Given the description of an element on the screen output the (x, y) to click on. 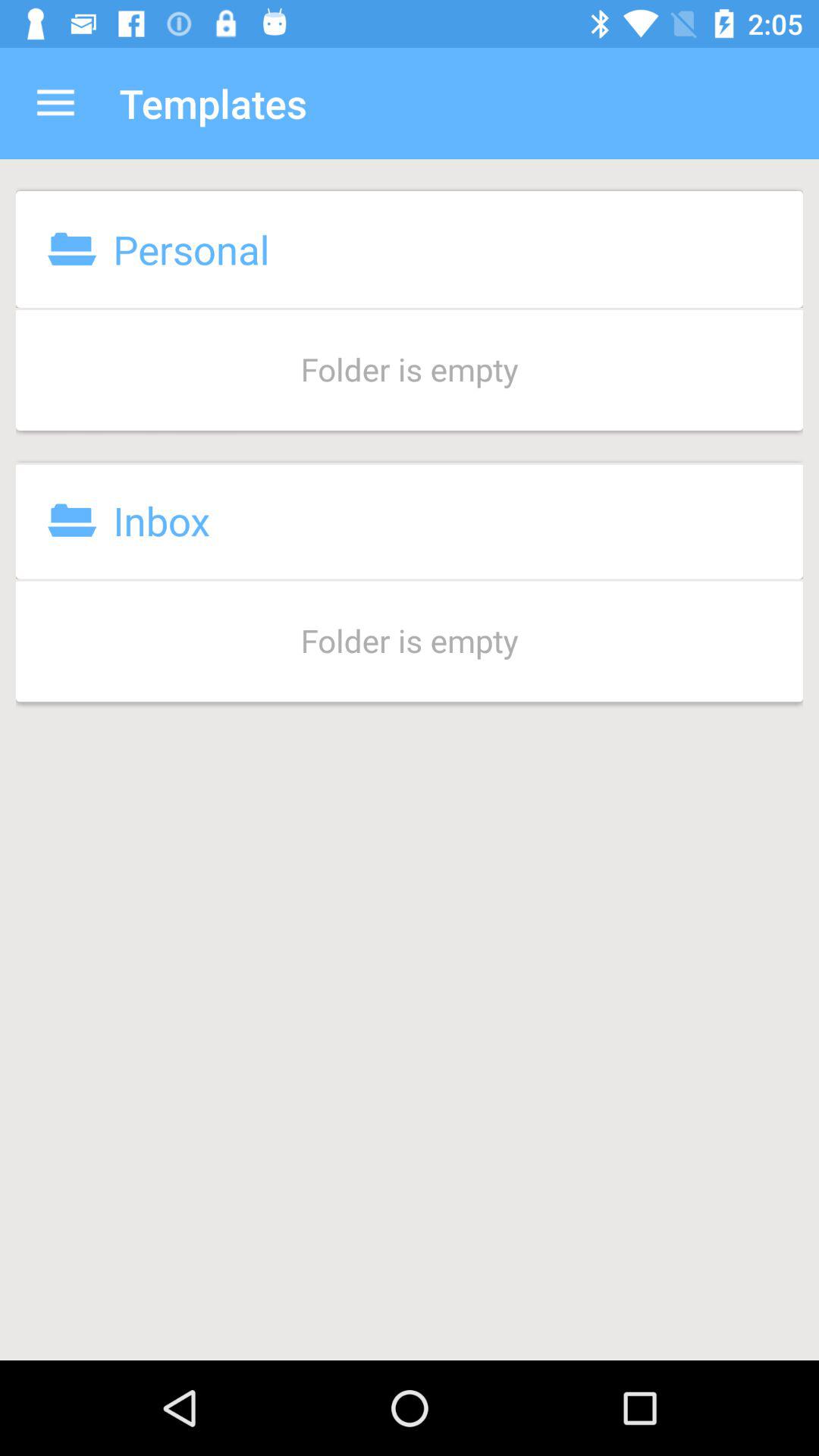
launch item to the left of the templates app (55, 103)
